Given the description of an element on the screen output the (x, y) to click on. 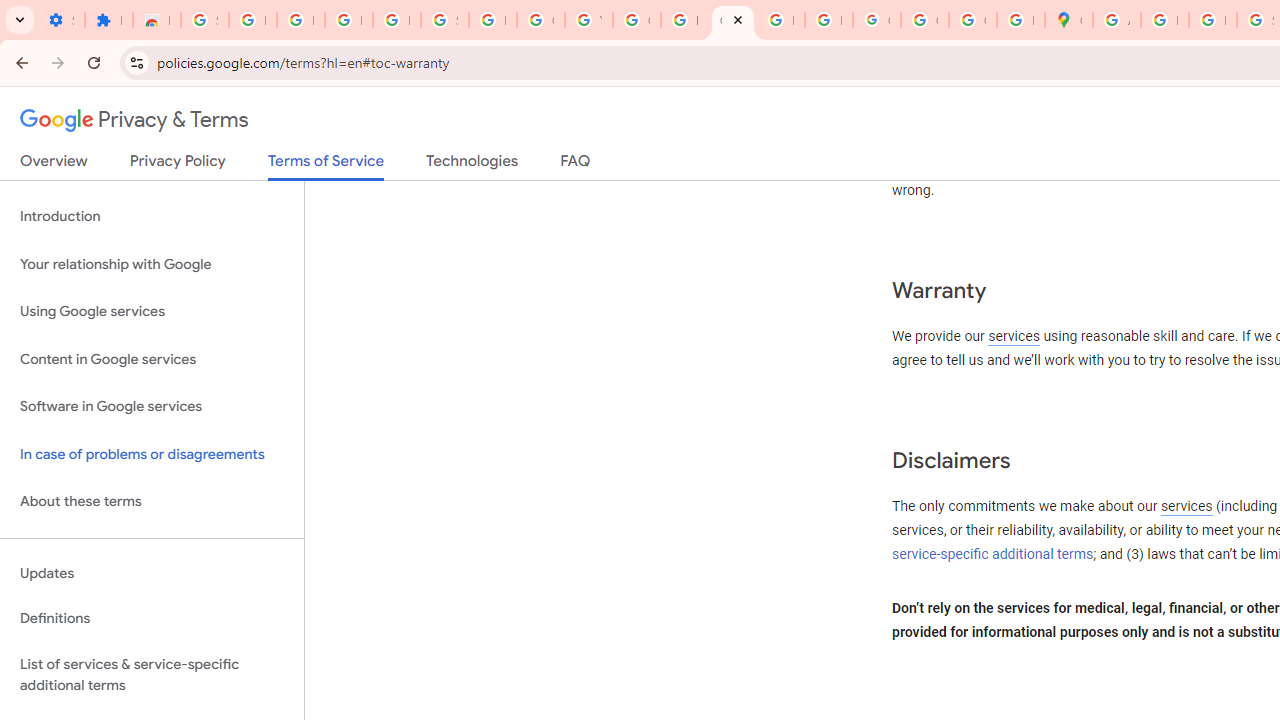
Google Account (540, 20)
FAQ (575, 165)
Updates (152, 573)
Definitions (152, 619)
Reviews: Helix Fruit Jump Arcade Game (156, 20)
Software in Google services (152, 407)
https://scholar.google.com/ (684, 20)
